Given the description of an element on the screen output the (x, y) to click on. 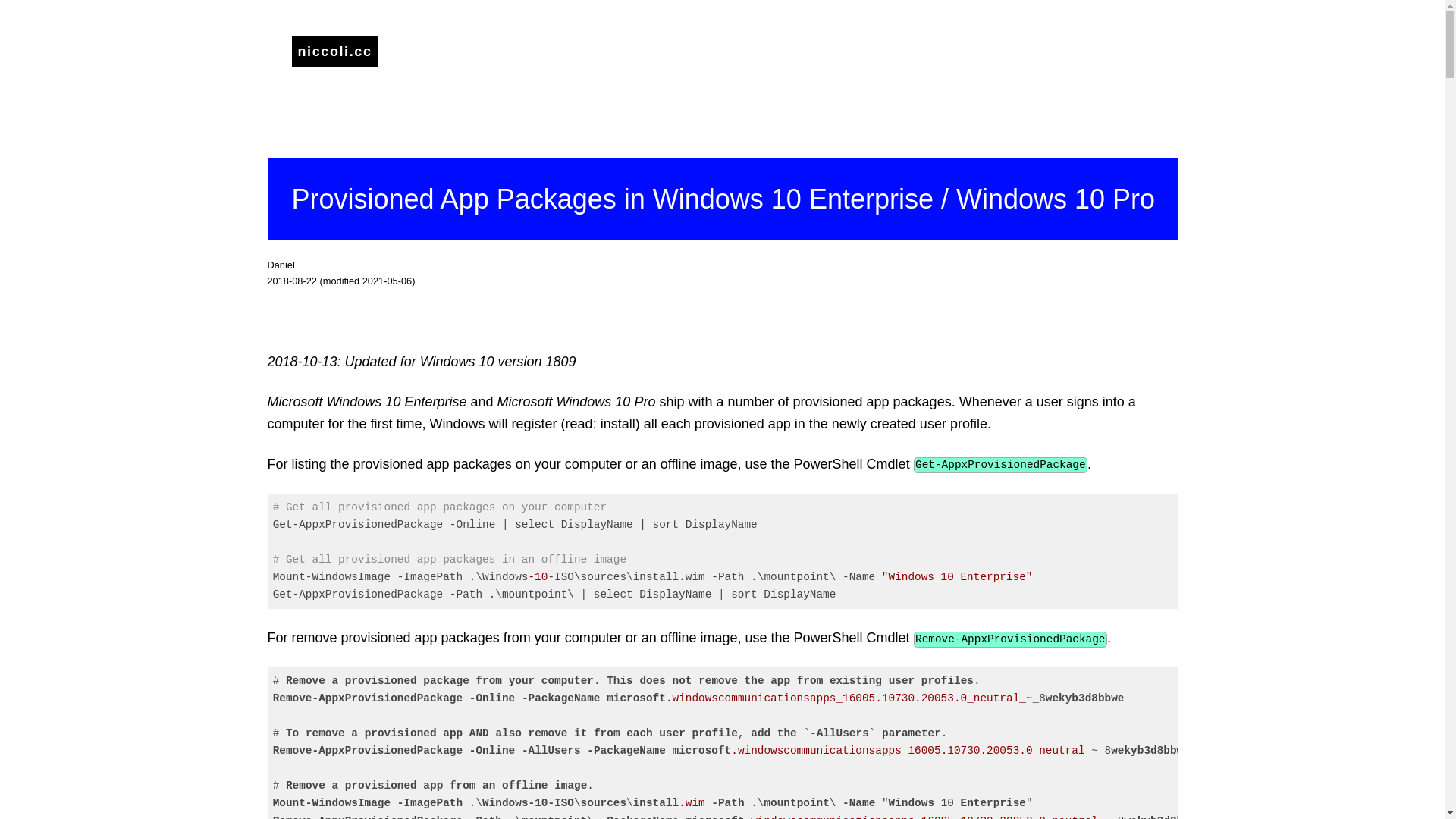
niccoli.cc Element type: text (334, 51)
